Given the description of an element on the screen output the (x, y) to click on. 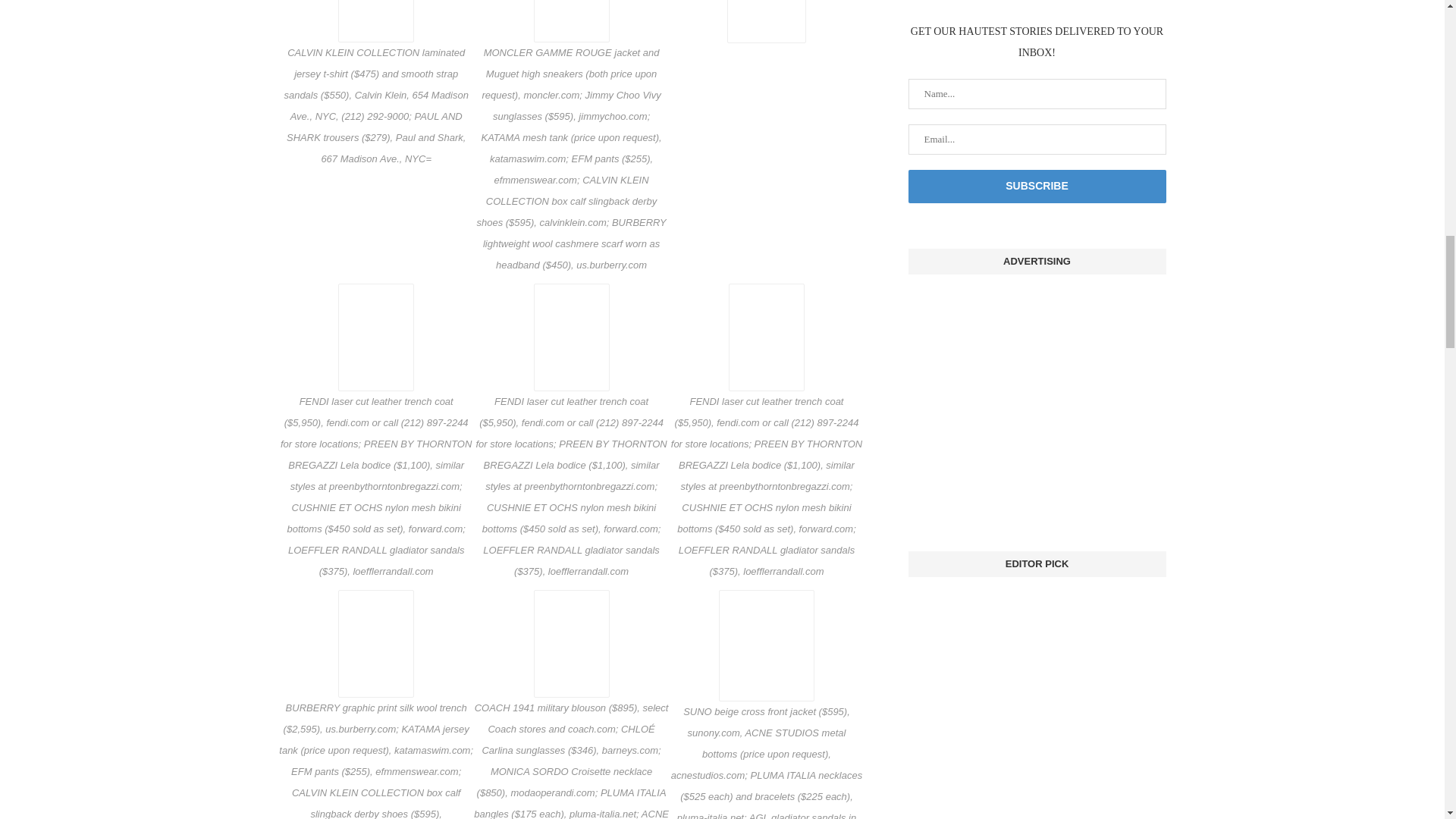
Subscribe (1037, 186)
